Given the description of an element on the screen output the (x, y) to click on. 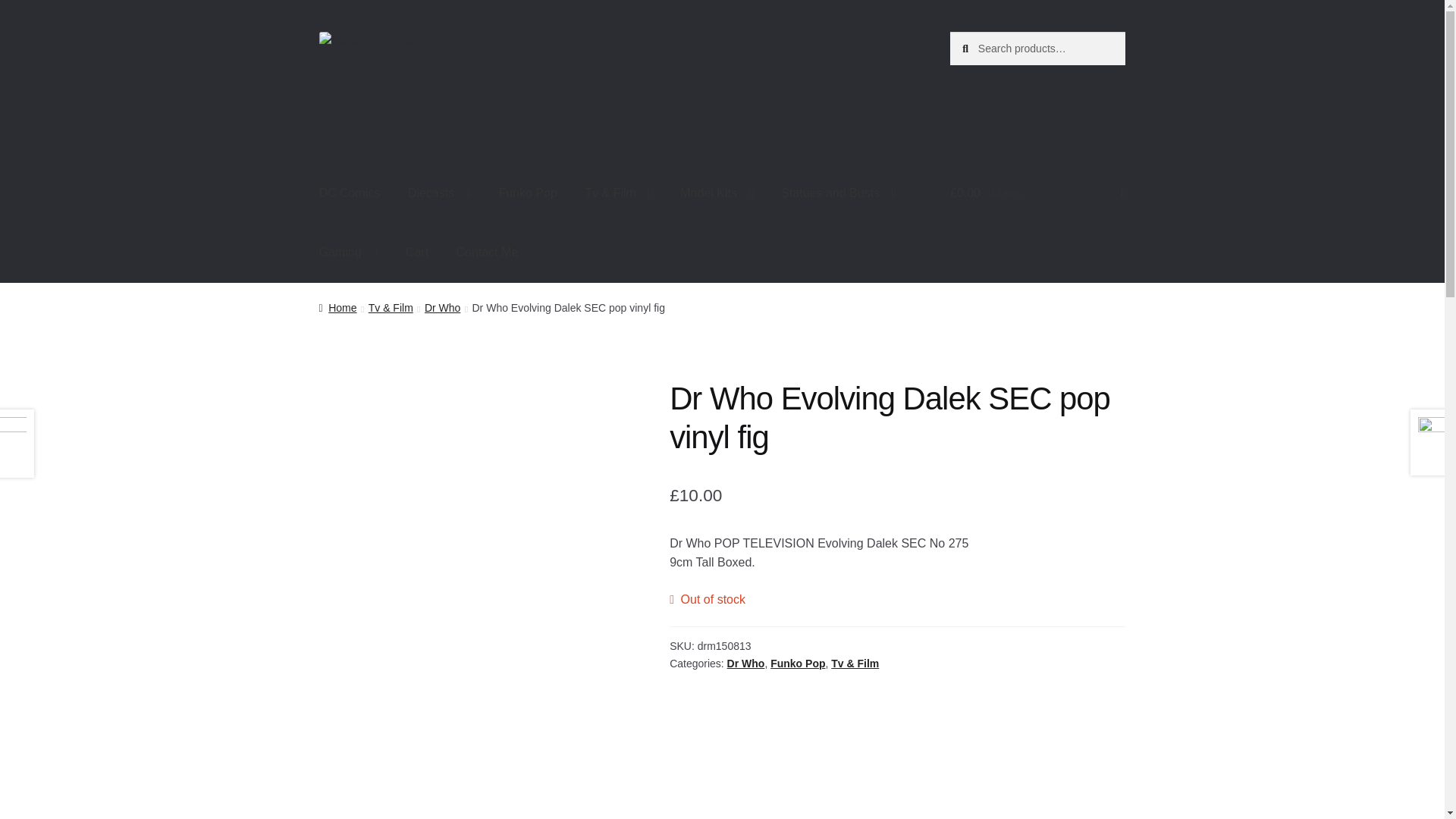
Diecasts (439, 193)
Funko Pop (527, 193)
DC Comics (350, 193)
View your shopping basket (1037, 193)
